Given the description of an element on the screen output the (x, y) to click on. 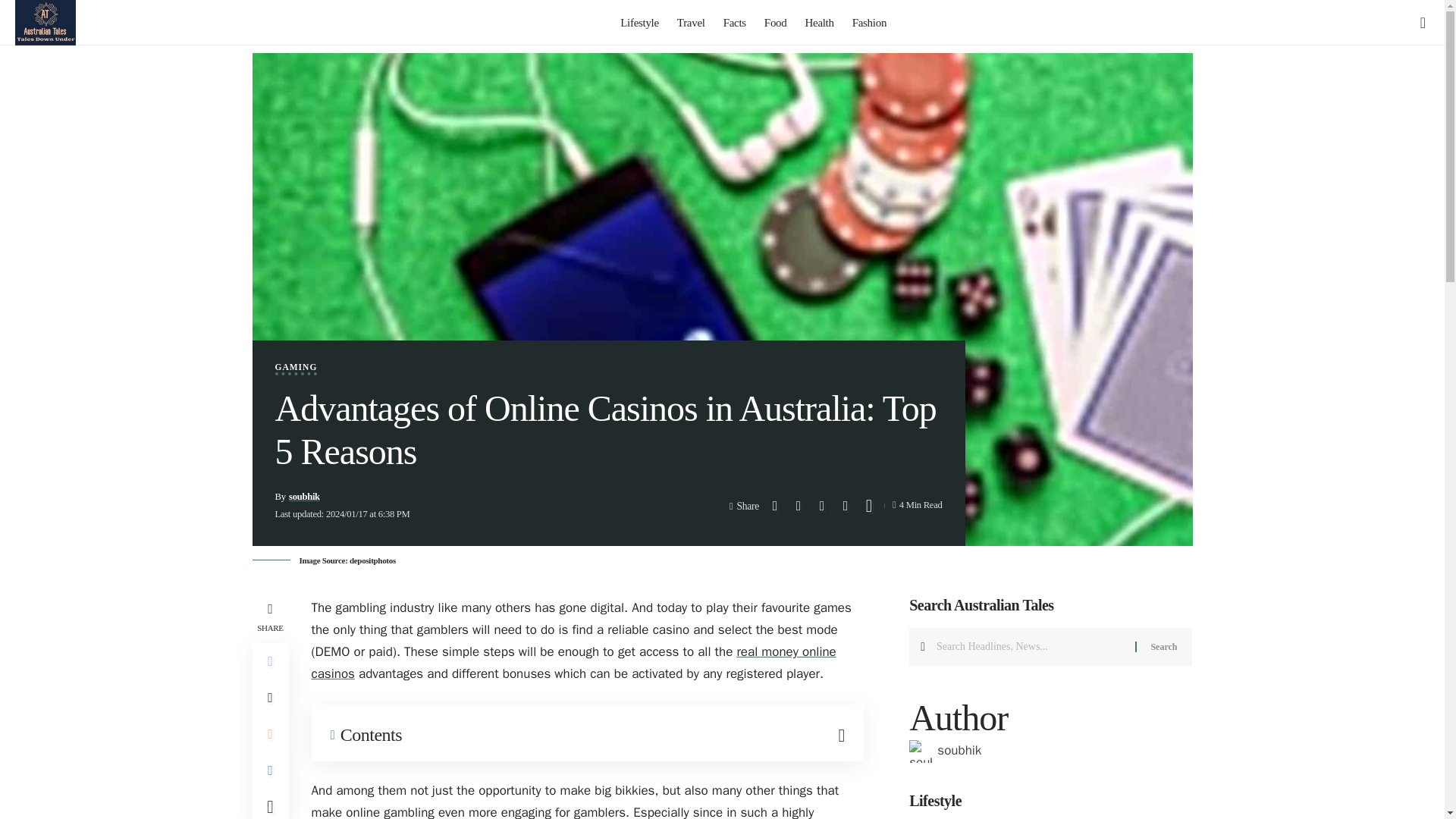
soubhik (304, 496)
Australian Tales (44, 22)
Lifestyle (639, 22)
real money online casinos (573, 662)
Search (1163, 646)
Fashion (869, 22)
Food (775, 22)
Health (819, 22)
Travel (691, 22)
